Given the description of an element on the screen output the (x, y) to click on. 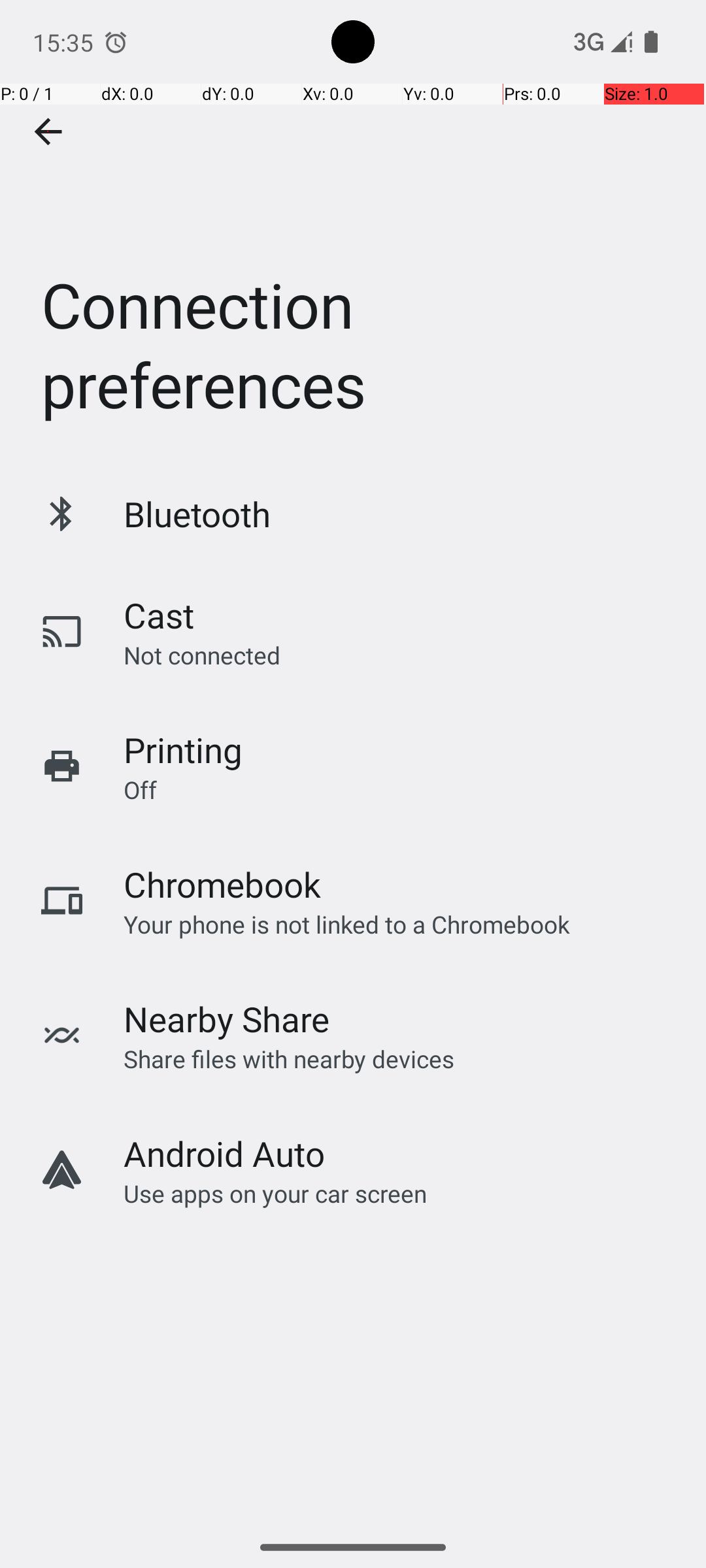
Not connected Element type: android.widget.TextView (201, 654)
Your phone is not linked to a Chromebook Element type: android.widget.TextView (346, 923)
Share files with nearby devices Element type: android.widget.TextView (288, 1058)
Use apps on your car screen Element type: android.widget.TextView (275, 1192)
